Given the description of an element on the screen output the (x, y) to click on. 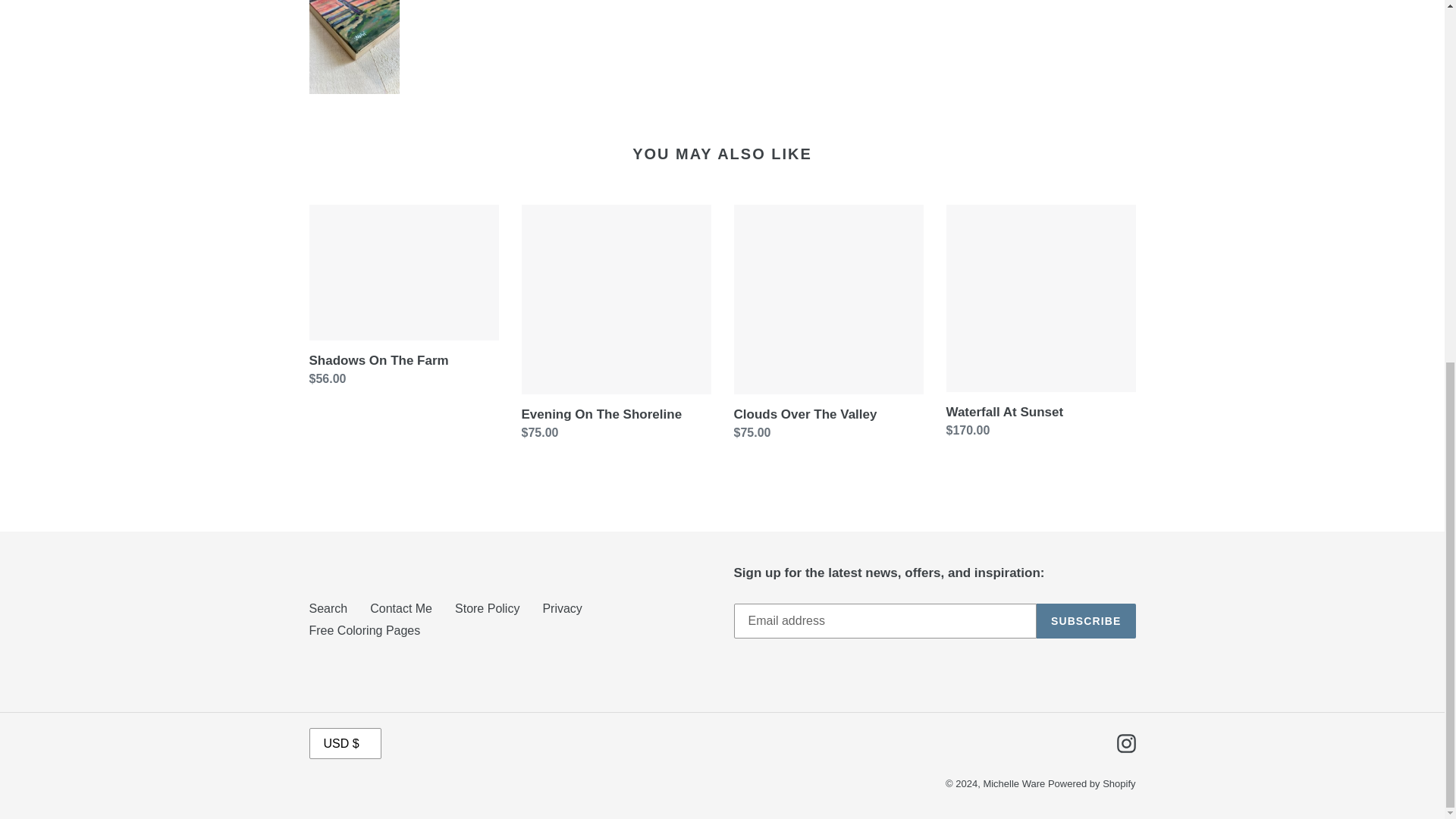
Shadows On The Farm (403, 299)
Contact Me (400, 608)
Search (327, 608)
